Given the description of an element on the screen output the (x, y) to click on. 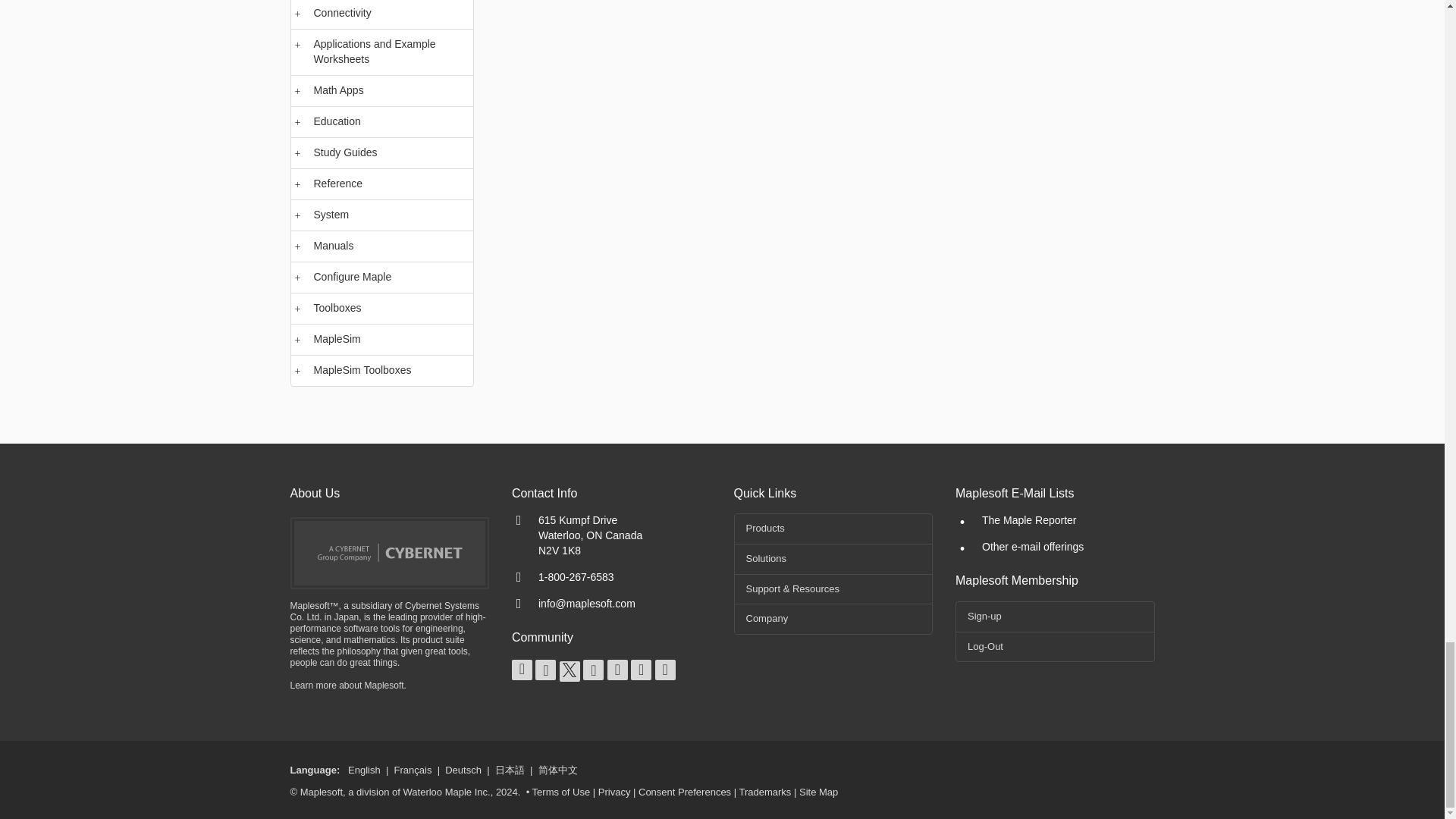
WeChat (665, 670)
